Given the description of an element on the screen output the (x, y) to click on. 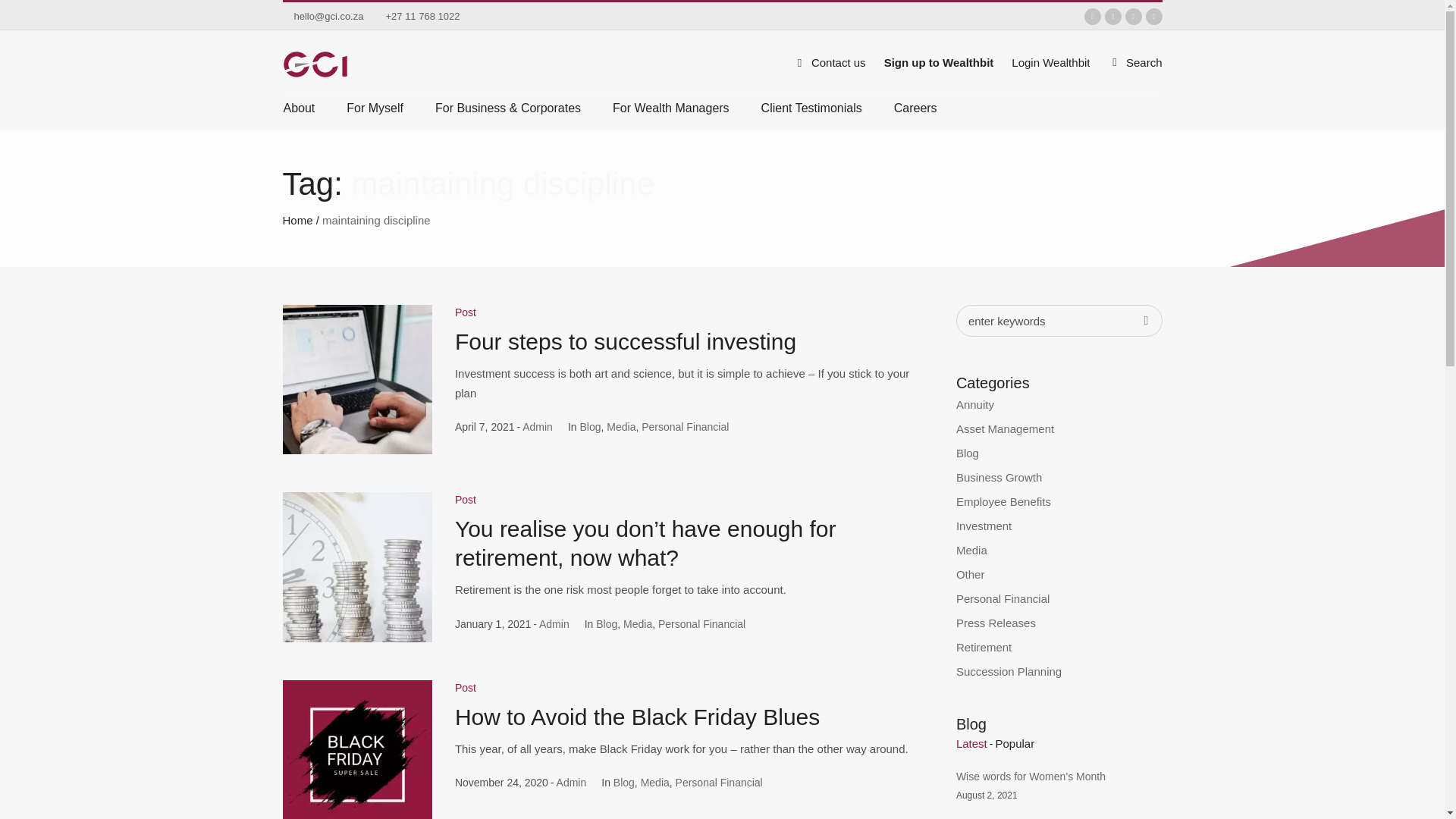
November 24, 2020 (501, 782)
Four steps to successful investing (356, 379)
Posts by Admin (553, 623)
YouTube (1152, 16)
January 1, 2021 (492, 623)
About (306, 113)
Login Wealthbit (1050, 62)
Search (1134, 62)
Twitter (1092, 16)
Posts by Admin (571, 782)
